Given the description of an element on the screen output the (x, y) to click on. 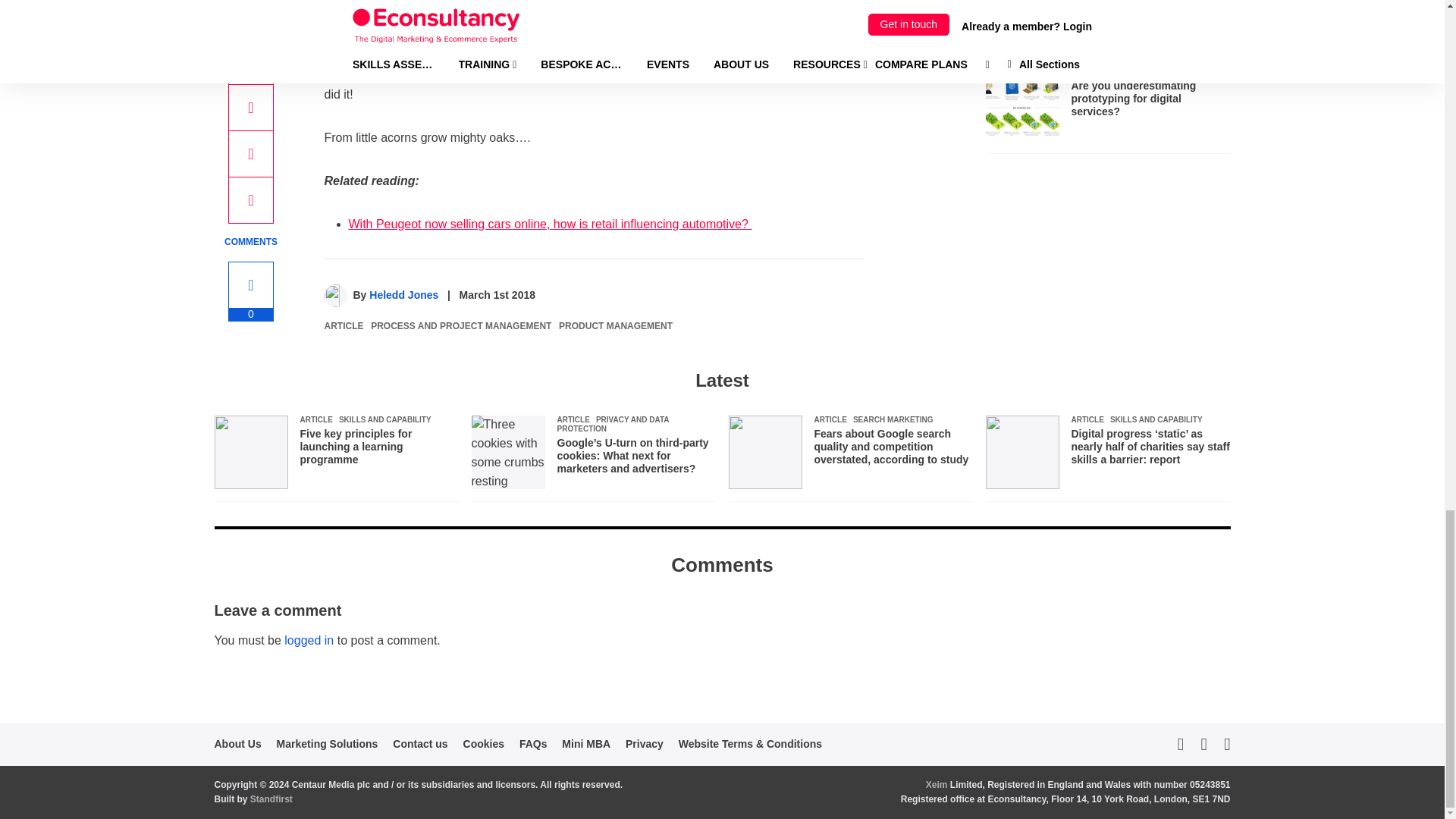
Posts by Heledd Jones (403, 295)
